Given the description of an element on the screen output the (x, y) to click on. 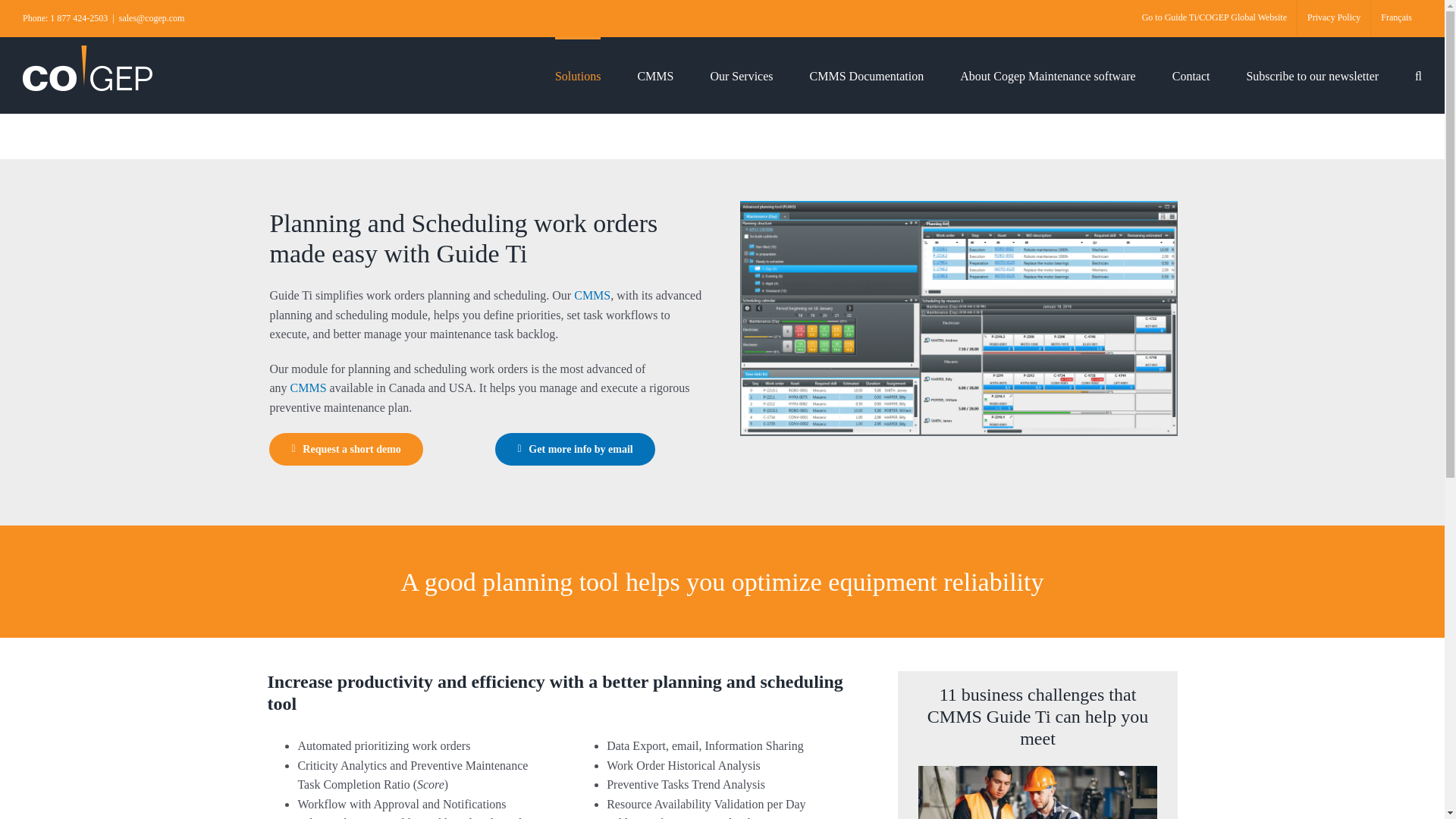
About Cogep Maintenance software (1047, 74)
CMMS Documentation (866, 74)
Subscribe to our newsletter (1312, 74)
Privacy Policy (1333, 18)
CMMS (307, 387)
CMMS (591, 295)
planning and scheduling printscreen (957, 317)
cover 11 business challenges that Guide Ti can help you meet (1037, 792)
